Given the description of an element on the screen output the (x, y) to click on. 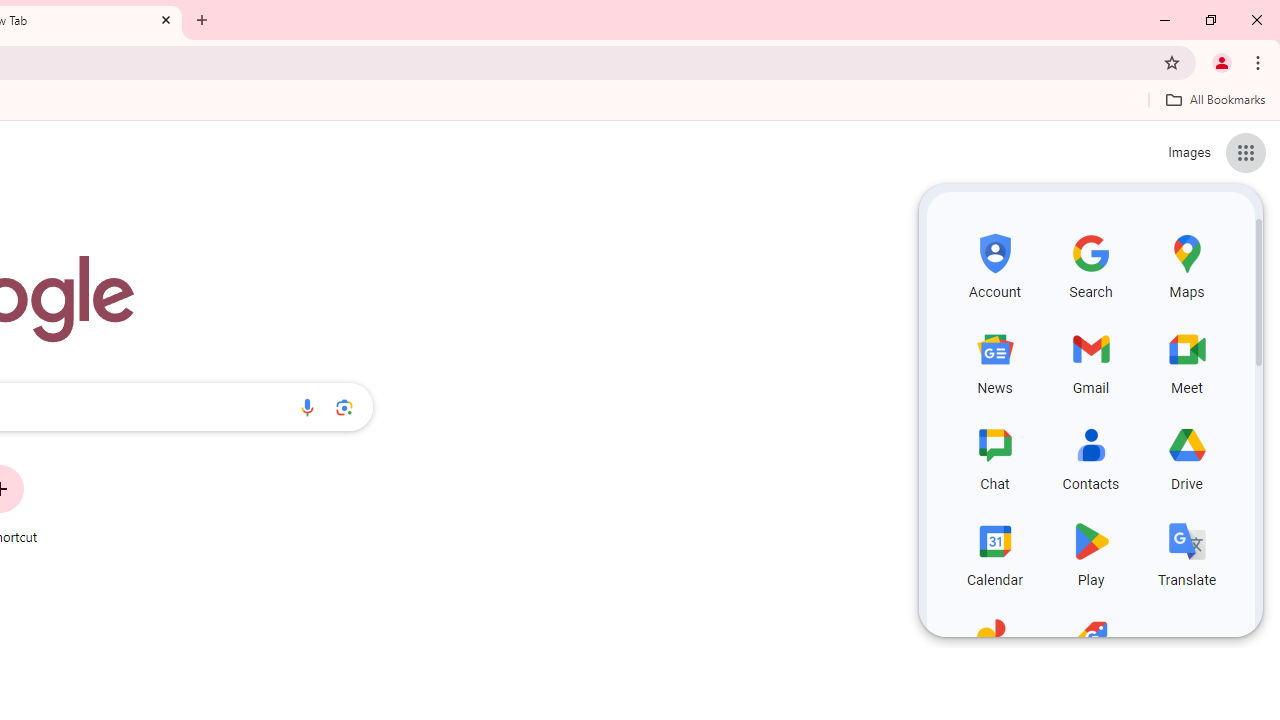
Shopping, row 5 of 5 and column 2 of 3 in the first section (1090, 647)
Maps, row 1 of 5 and column 3 of 3 in the first section (1186, 263)
Translate, row 4 of 5 and column 3 of 3 in the first section (1186, 551)
Meet, row 2 of 5 and column 3 of 3 in the first section (1186, 359)
News, row 2 of 5 and column 1 of 3 in the first section (994, 359)
Account, row 1 of 5 and column 1 of 3 in the first section (994, 263)
Search, row 1 of 5 and column 2 of 3 in the first section (1090, 263)
